Given the description of an element on the screen output the (x, y) to click on. 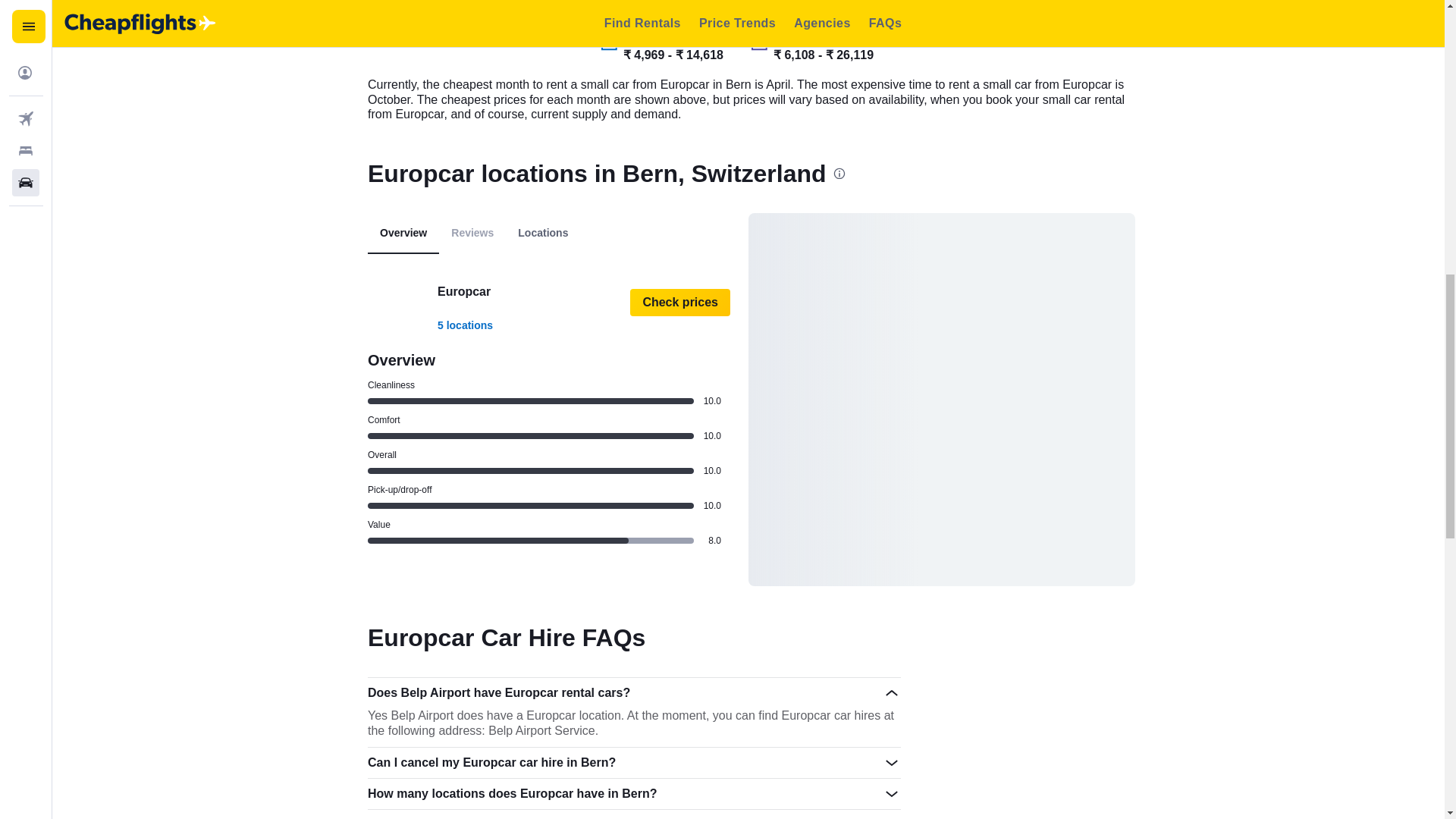
Locations (542, 232)
Reviews (472, 232)
Check prices (680, 302)
Overview (403, 232)
